Given the description of an element on the screen output the (x, y) to click on. 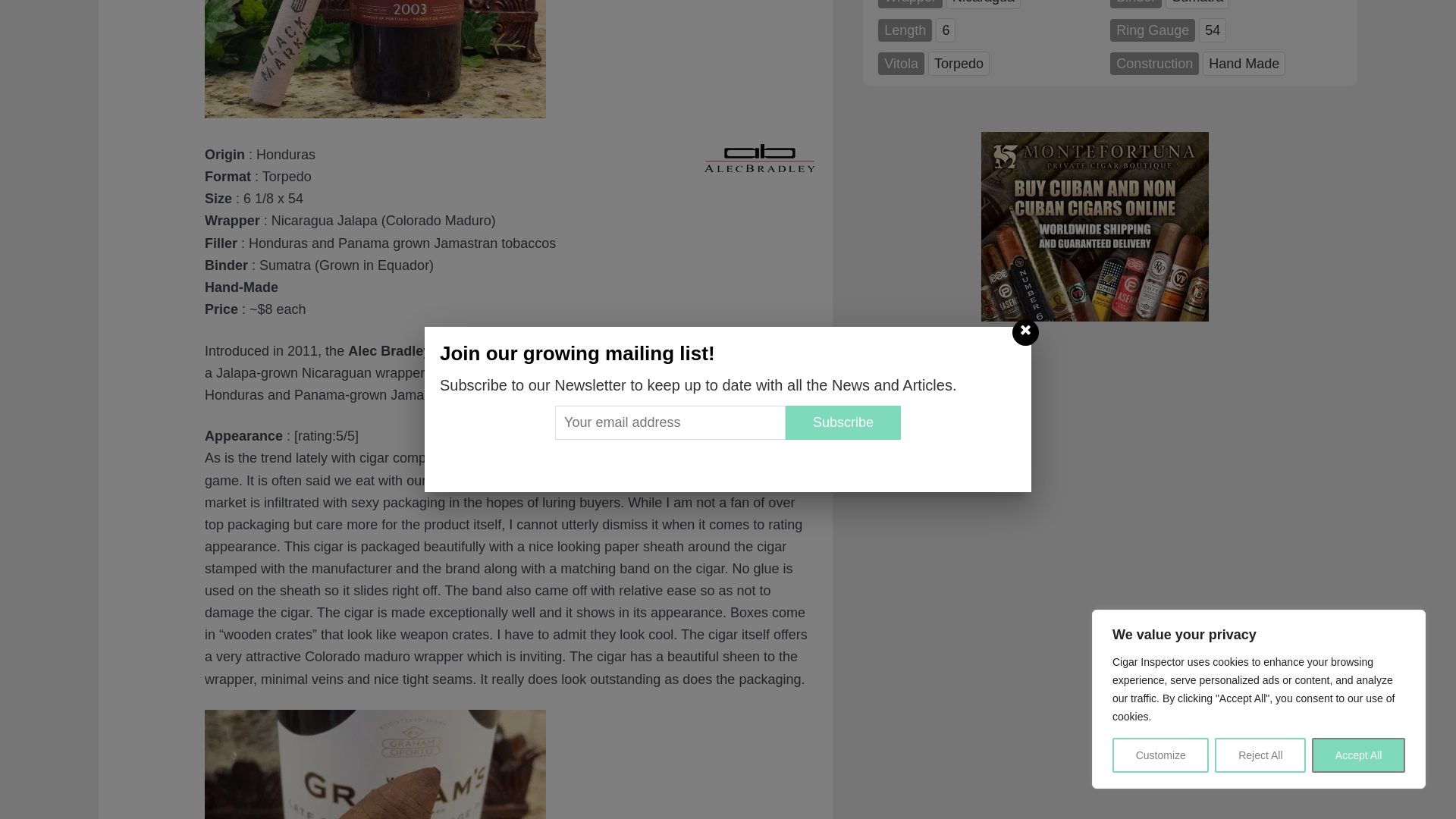
Alec Bradley Black Market (375, 113)
